Given the description of an element on the screen output the (x, y) to click on. 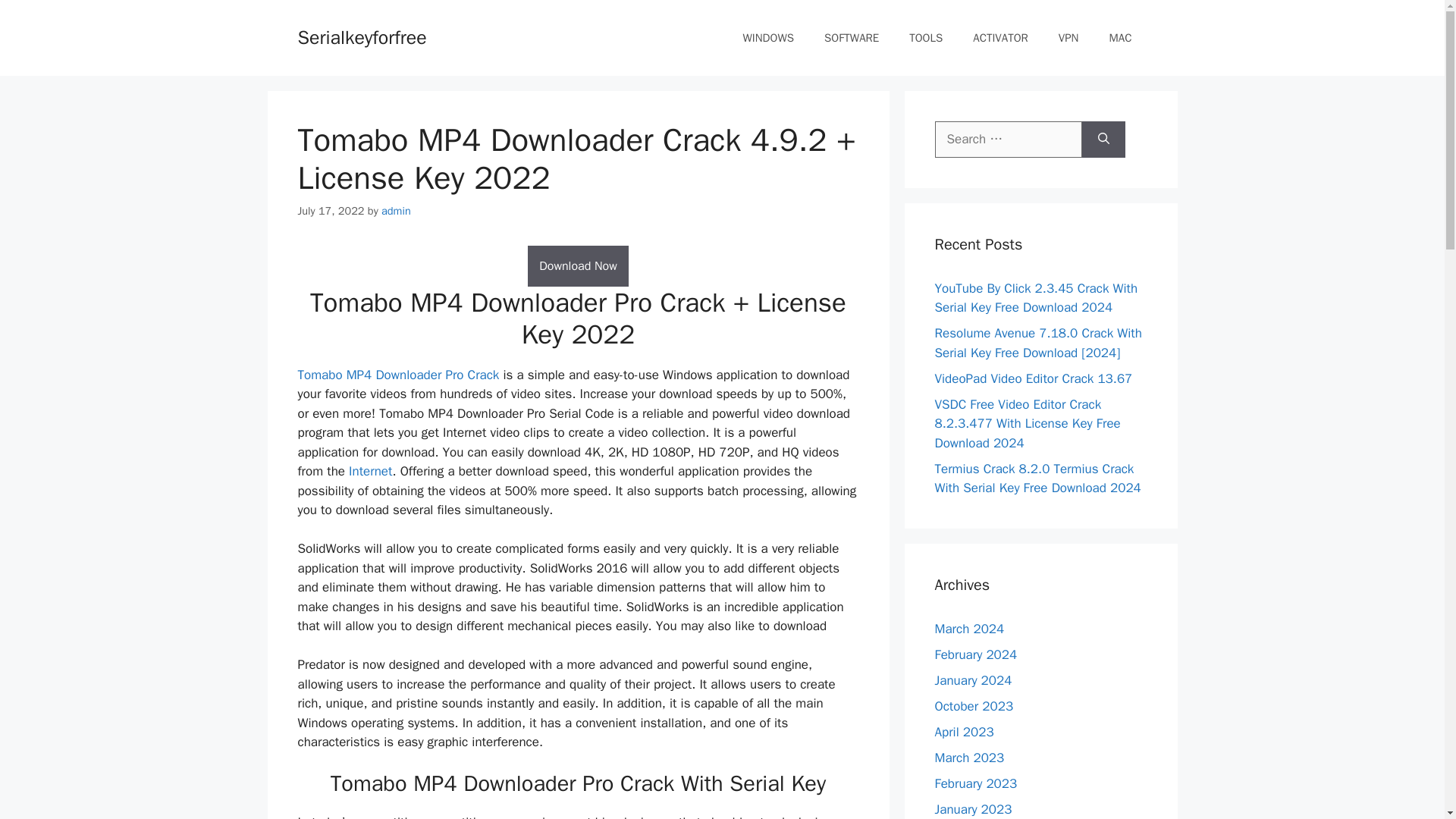
Tomabo MP4 Downloader Pro Crack (398, 374)
SOFTWARE (851, 37)
Search for: (1007, 139)
admin (395, 210)
Internet (370, 471)
WINDOWS (768, 37)
Download Now (577, 265)
MAC (1120, 37)
TOOLS (925, 37)
VPN (1068, 37)
